Given the description of an element on the screen output the (x, y) to click on. 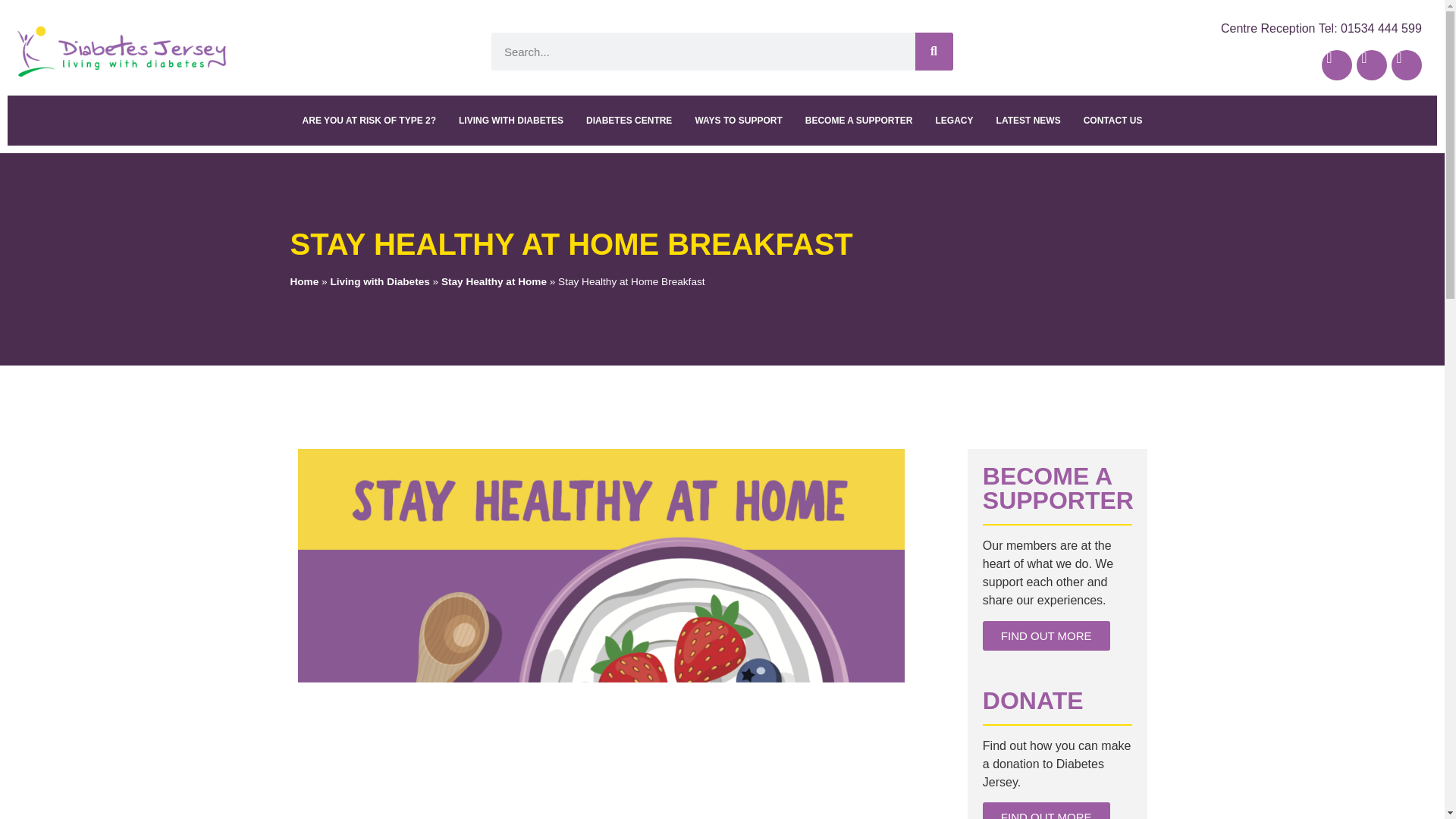
CONTACT US (1112, 120)
ARE YOU AT RISK OF TYPE 2? (368, 120)
LATEST NEWS (1028, 120)
BECOME A SUPPORTER (858, 120)
WAYS TO SUPPORT (737, 120)
DIABETES CENTRE (628, 120)
LEGACY (954, 120)
LIVING WITH DIABETES (510, 120)
